Given the description of an element on the screen output the (x, y) to click on. 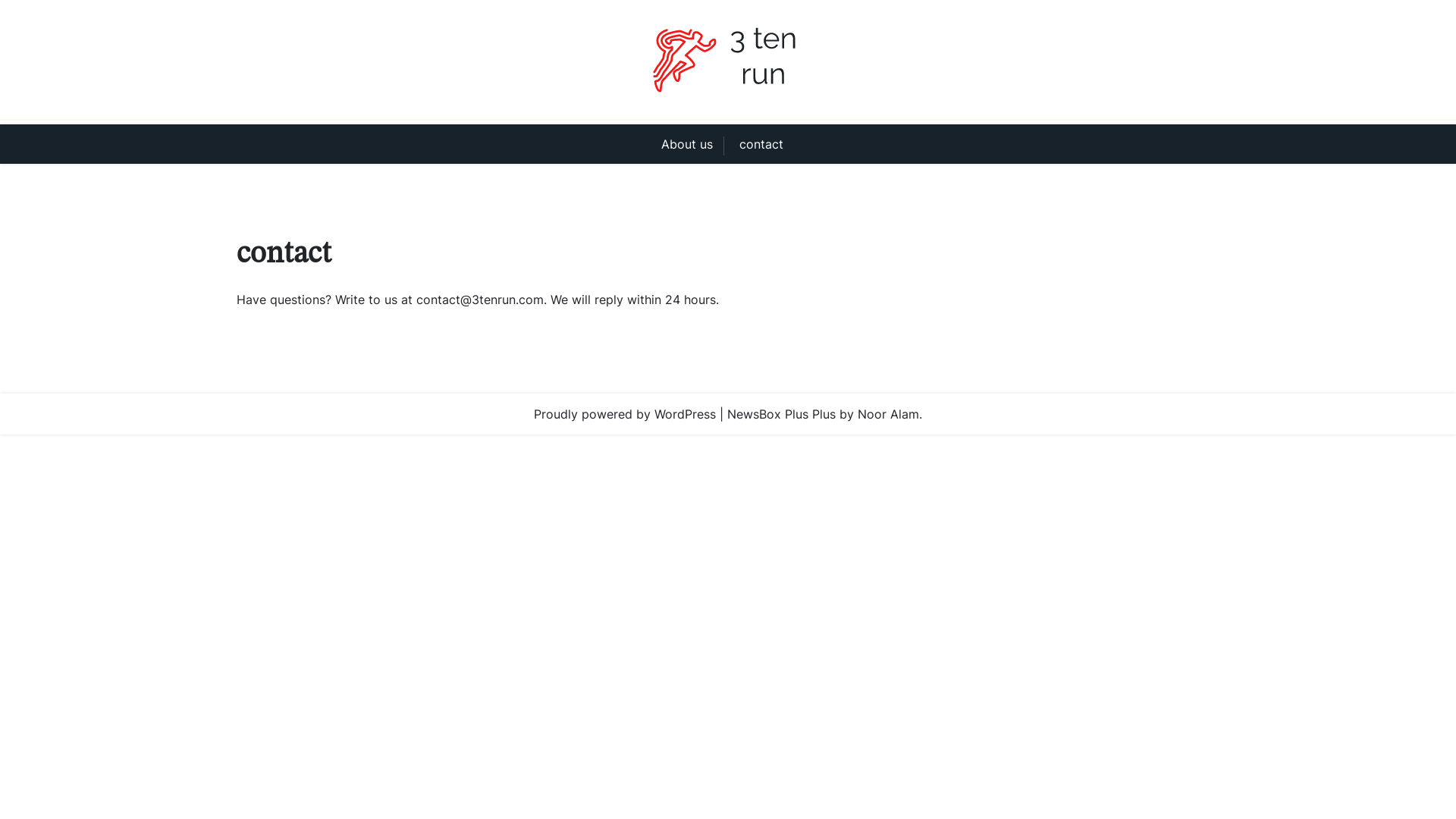
contact Element type: text (761, 143)
Proudly powered by WordPress Element type: text (624, 413)
NewsBox Plus Plus Element type: text (781, 413)
About us Element type: text (692, 143)
